Given the description of an element on the screen output the (x, y) to click on. 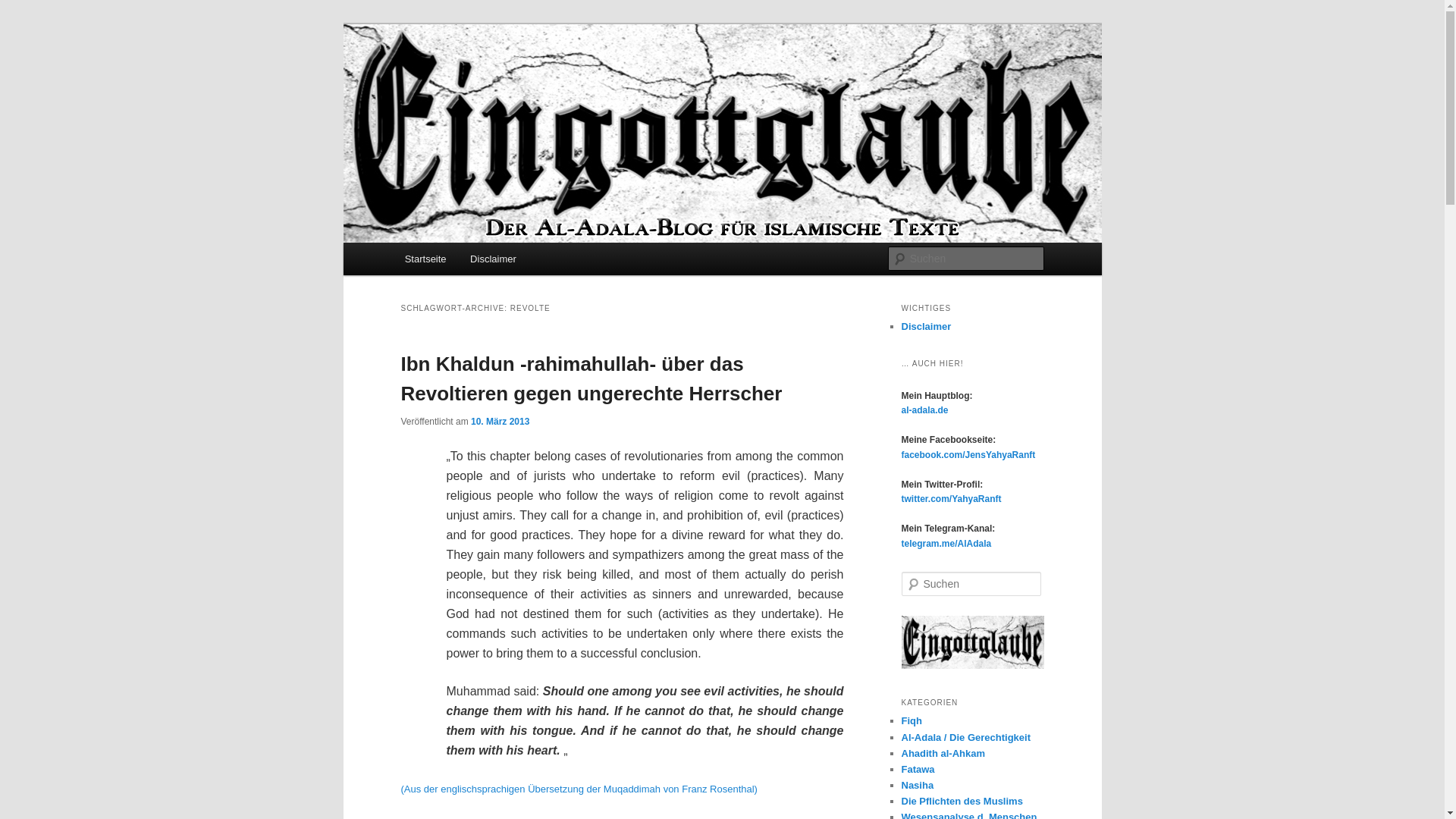
Nasiha (917, 785)
Die Pflichten des Muslims (961, 800)
Fiqh (911, 720)
Disclaimer (925, 326)
Suchen (25, 8)
al-adala.de (924, 409)
Disclaimer (492, 258)
Fatawa (917, 768)
16:47 (499, 420)
Suchen (21, 11)
Adala Blog (459, 78)
Wesensanalyse d. Menschen (968, 815)
Startseite (425, 258)
Hadithe der rechtlichen Bestimmungen (943, 753)
